Given the description of an element on the screen output the (x, y) to click on. 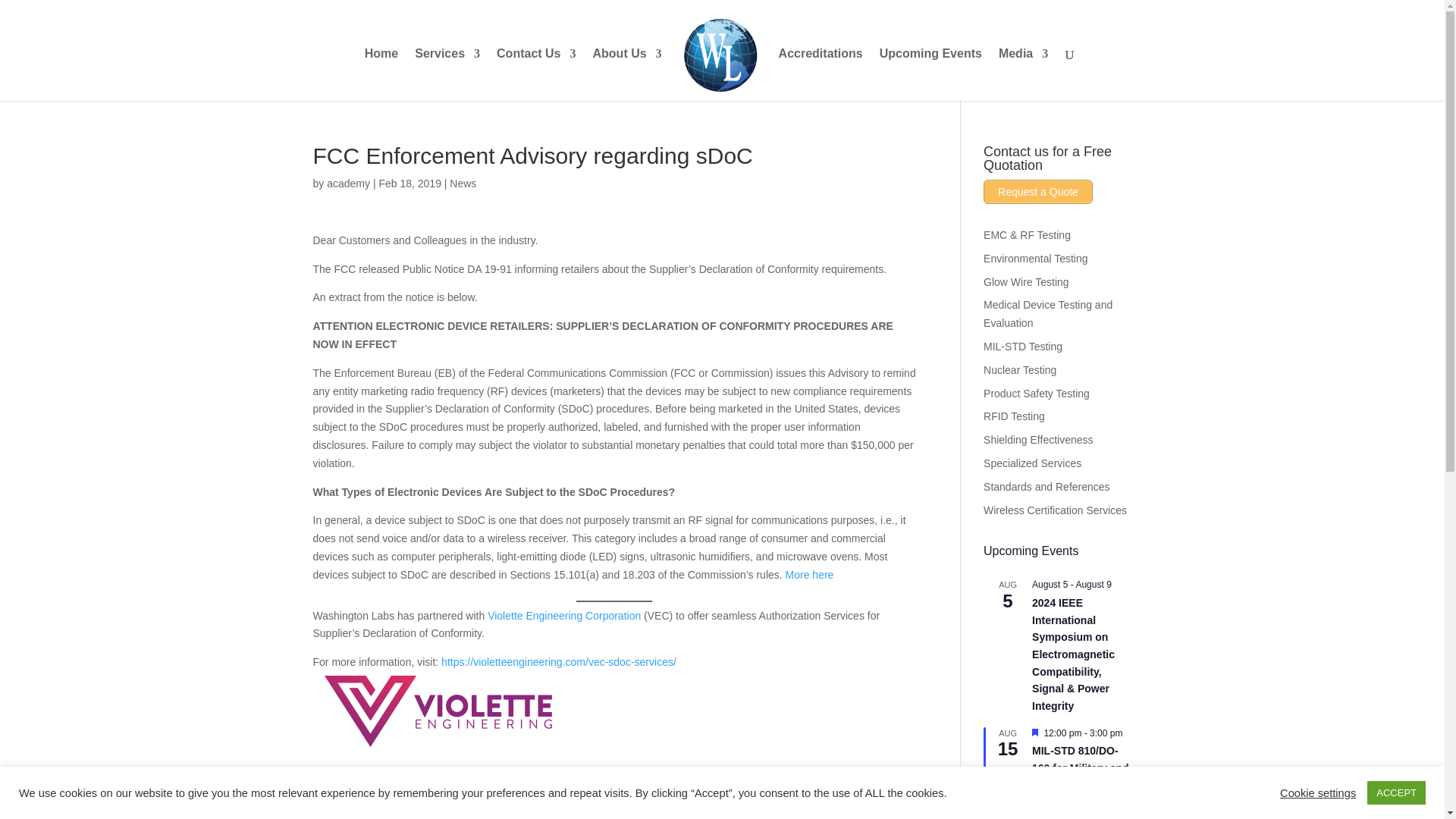
Services (447, 74)
About Washington Laboratories (627, 74)
About Us (627, 74)
Contact Us (535, 74)
Posts by academy (347, 183)
